Given the description of an element on the screen output the (x, y) to click on. 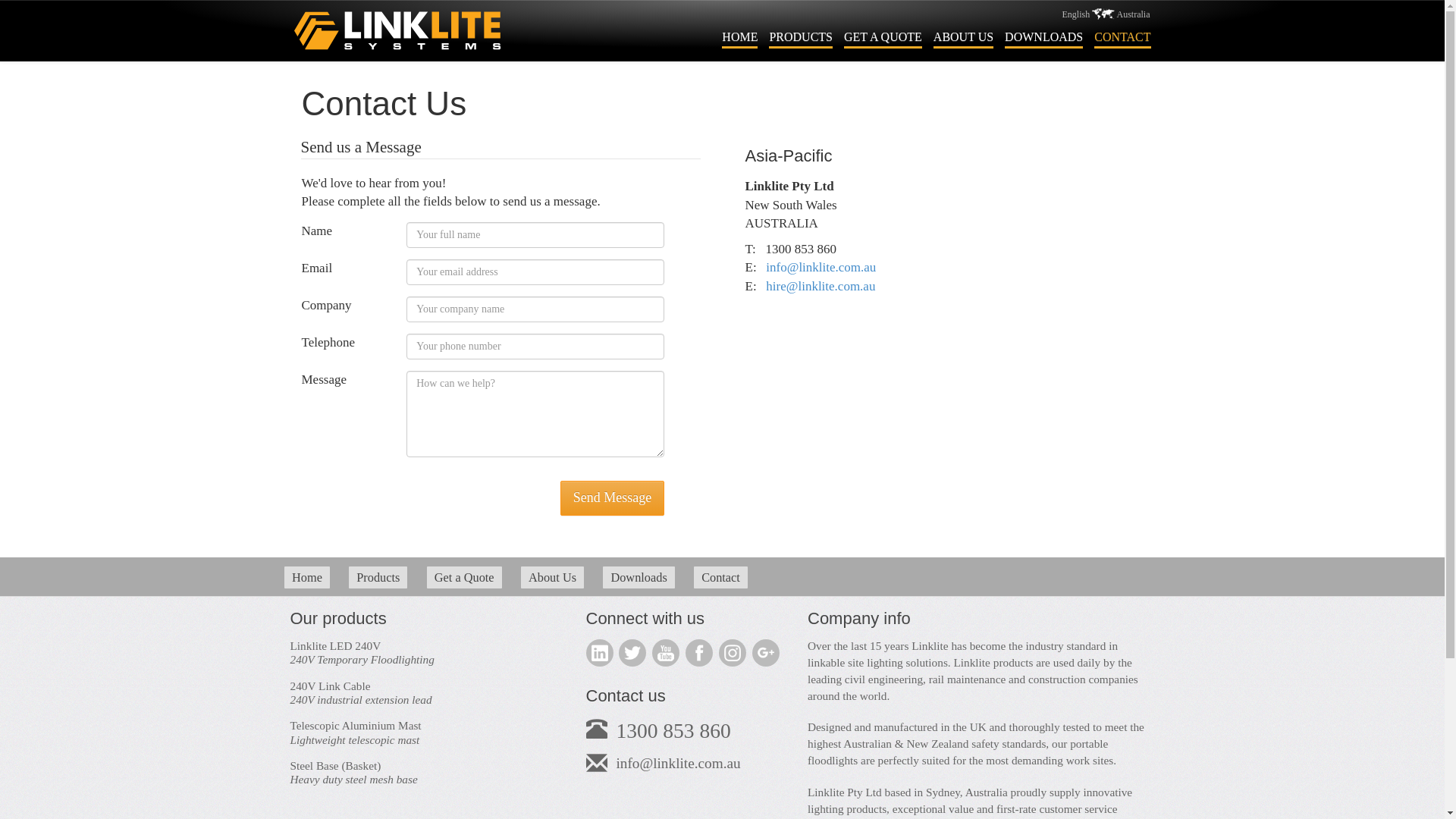
Google+ Element type: hover (765, 652)
GET A QUOTE Element type: text (883, 38)
YouTube Element type: hover (665, 652)
Linklite LED 240V
240V Temporary Floodlighting Element type: text (425, 653)
ABOUT US Element type: text (963, 38)
Products Element type: text (377, 577)
Contact Element type: text (720, 577)
Instagram Element type: hover (732, 652)
Company info Element type: text (858, 617)
Our products Element type: text (337, 617)
Facebook Element type: hover (698, 652)
info@linklite.com.au Element type: text (820, 267)
240V Link Cable
240V industrial extension lead Element type: text (425, 693)
PRODUCTS Element type: text (800, 38)
Contact us Element type: text (625, 695)
Connect with us Element type: text (644, 617)
Twitter Element type: hover (632, 652)
1300 853 860 Element type: text (672, 730)
Steel Base (Basket)
Heavy duty steel mesh base Element type: text (425, 773)
Downloads Element type: text (638, 577)
DOWNLOADS Element type: text (1043, 38)
info@linklite.com.au Element type: text (677, 763)
CONTACT Element type: text (1122, 38)
Home Element type: text (306, 577)
HOME Element type: text (739, 38)
hire@linklite.com.au Element type: text (820, 286)
Telescopic Aluminium Mast
Lightweight telescopic mast Element type: text (425, 732)
English Australia Element type: text (1106, 14)
Send Message Element type: text (612, 497)
Get a Quote Element type: text (464, 577)
LinkedIn Element type: hover (598, 652)
About Us Element type: text (551, 577)
